Given the description of an element on the screen output the (x, y) to click on. 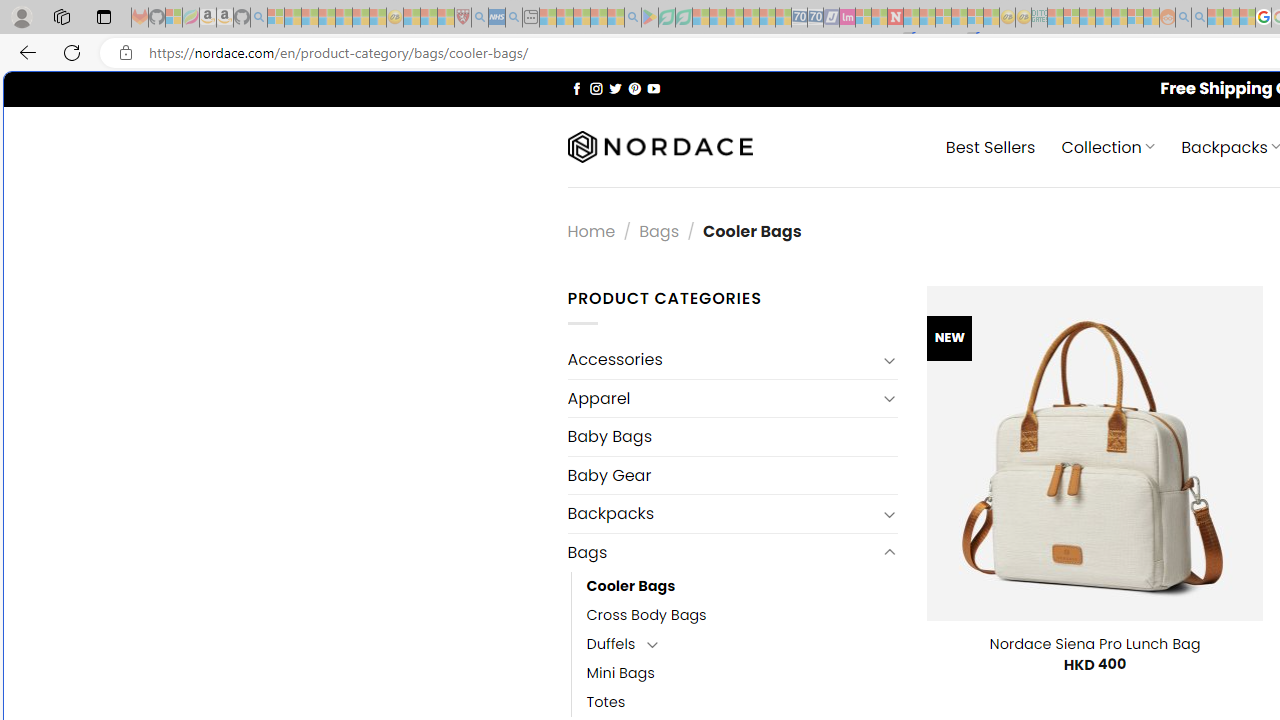
Cross Body Bags (646, 614)
Follow on Instagram (596, 88)
Follow on Twitter (615, 88)
Totes (605, 701)
Backpacks (721, 514)
Accessories (721, 359)
